Given the description of an element on the screen output the (x, y) to click on. 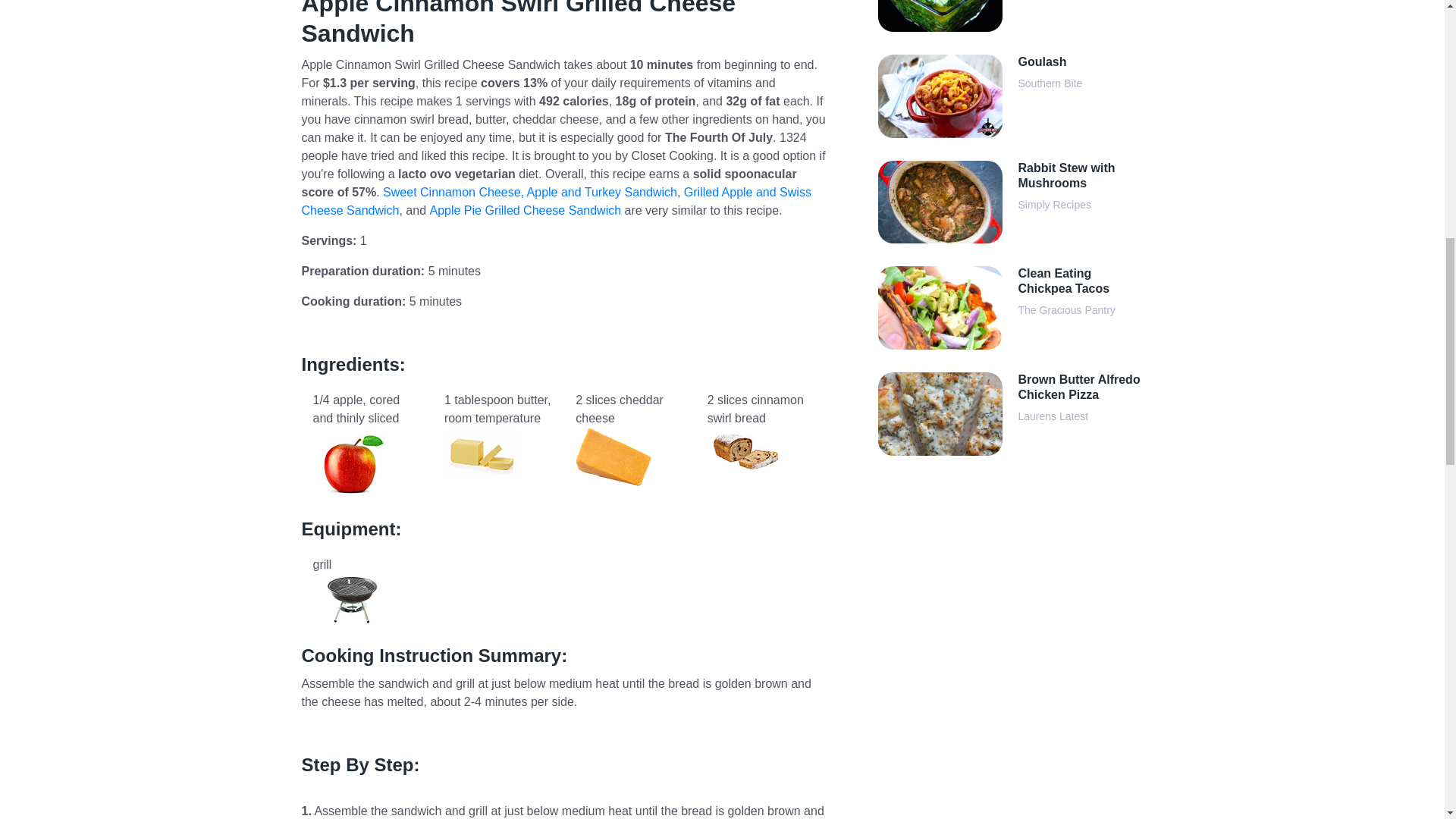
Sweet Cinnamon Cheese, Apple and Turkey Sandwich (529, 192)
Apple Pie Grilled Cheese Sandwich (525, 210)
Grilled Apple and Swiss Cheese Sandwich (555, 201)
Apple Cinnamon Swirl Grilled Cheese Sandwich (564, 24)
